Given the description of an element on the screen output the (x, y) to click on. 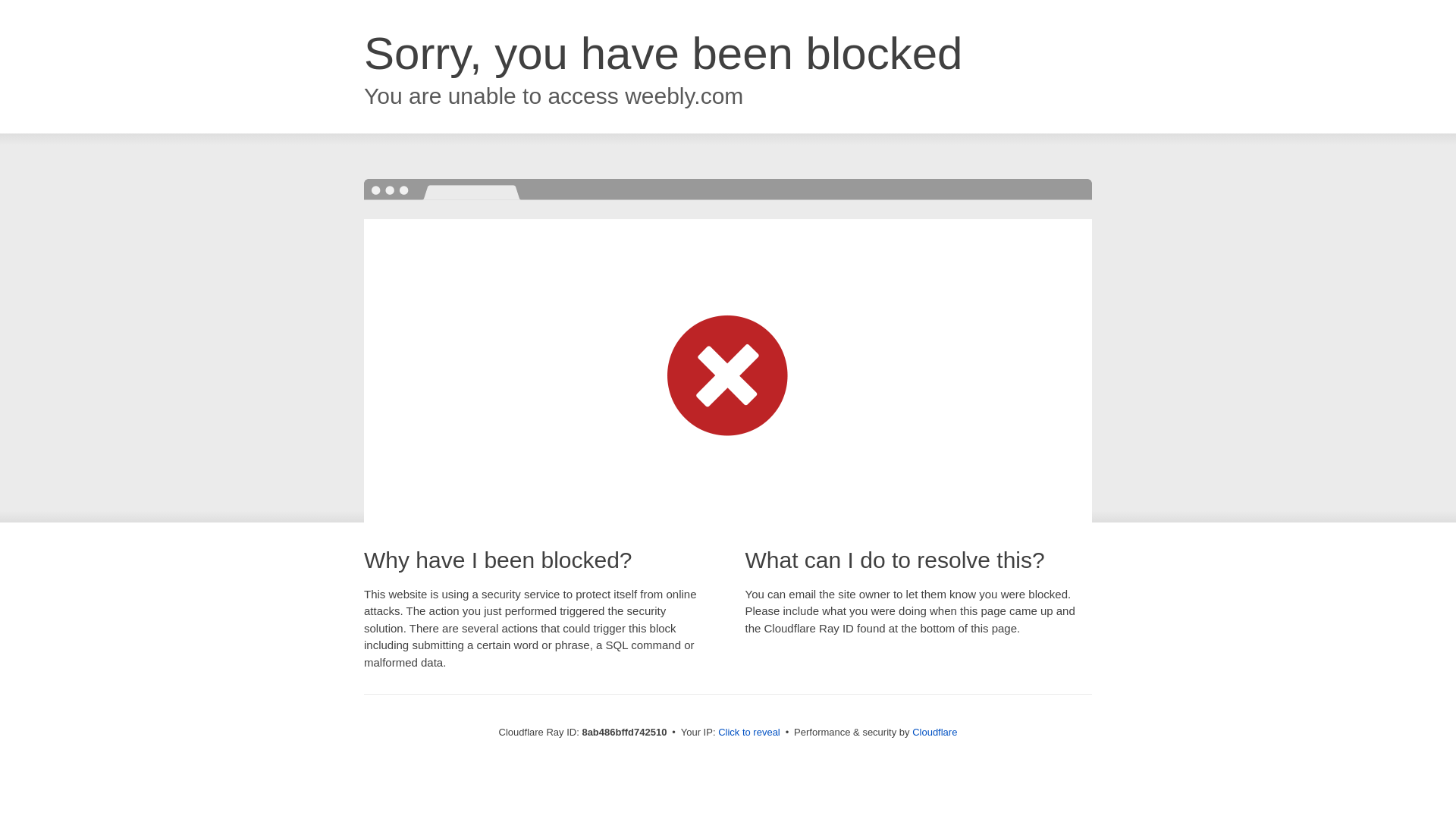
Cloudflare (934, 731)
Click to reveal (748, 732)
